Given the description of an element on the screen output the (x, y) to click on. 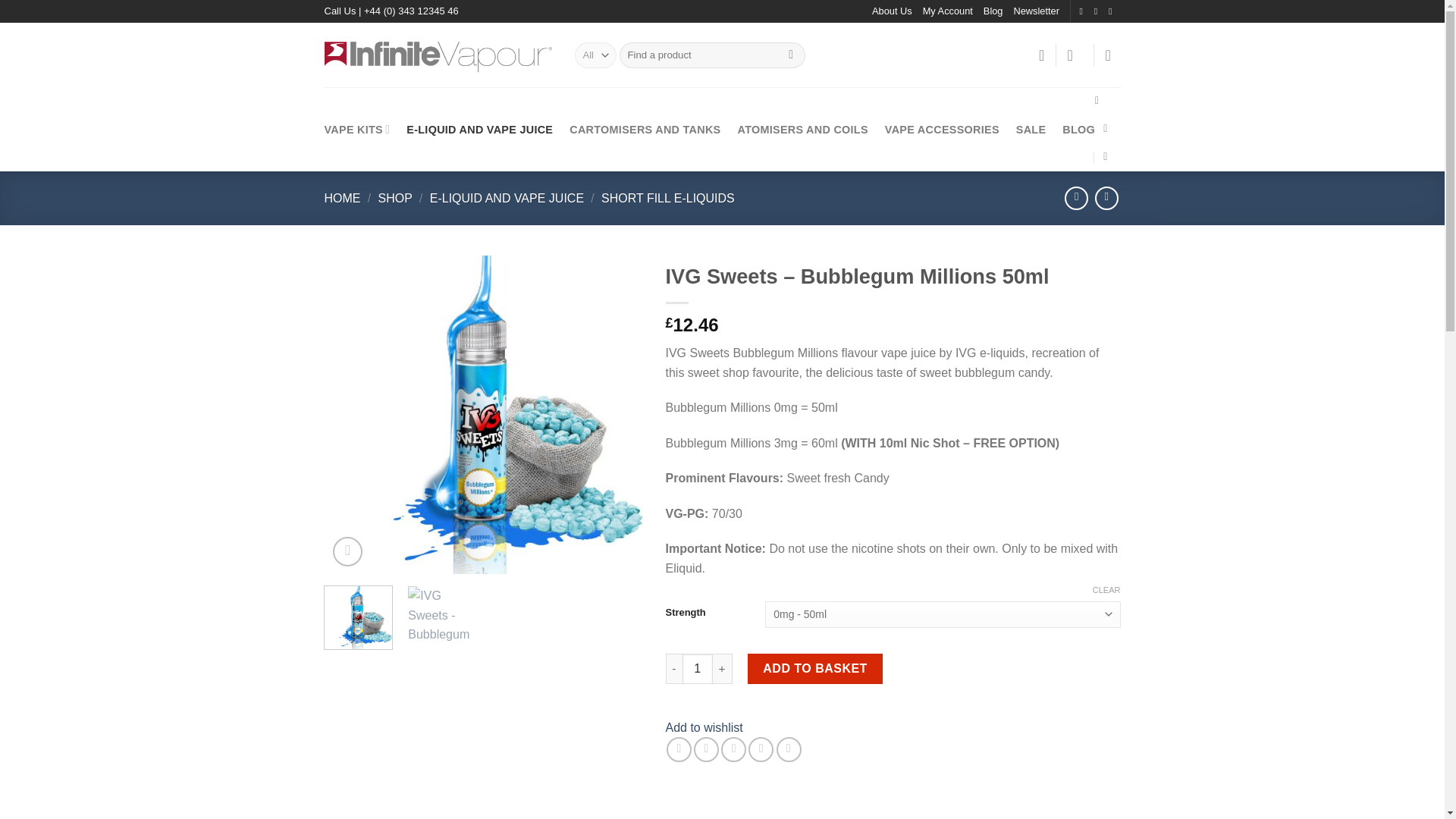
1 (697, 668)
E-LIQUID AND VAPE JUICE (506, 197)
VAPE ACCESSORIES (941, 129)
E-LIQUID AND VAPE JUICE (479, 129)
My Account (947, 11)
Newsletter (1035, 11)
HOME (342, 197)
Search (790, 54)
Sign up for Newsletter (1035, 11)
CARTOMISERS AND TANKS (644, 129)
SHORT FILL E-LIQUIDS (668, 197)
ATOMISERS AND COILS (802, 129)
About Us (892, 11)
VAPE KITS (357, 129)
